Given the description of an element on the screen output the (x, y) to click on. 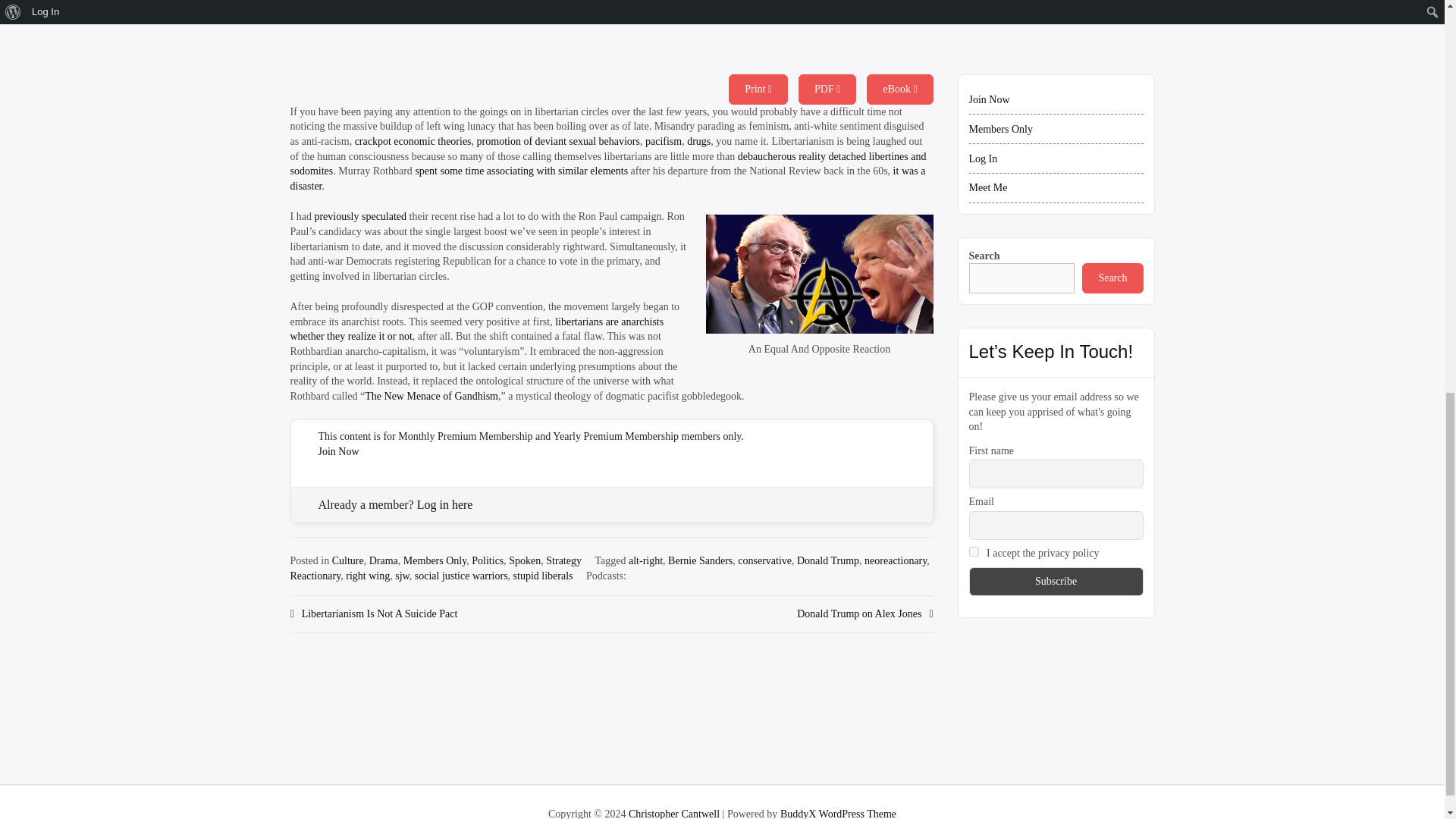
Porcupine Non Grata (663, 141)
crackpot economic theories (413, 141)
pacifism (663, 141)
it was a disaster (606, 178)
debaucherous reality detached libertines and sodomites (607, 163)
On Pot, Tucker Nails It (698, 141)
drugs (698, 141)
An Honest Criticism of Augustus Invictus (360, 215)
spent some time associating with similar elements (520, 170)
on (973, 551)
